Given the description of an element on the screen output the (x, y) to click on. 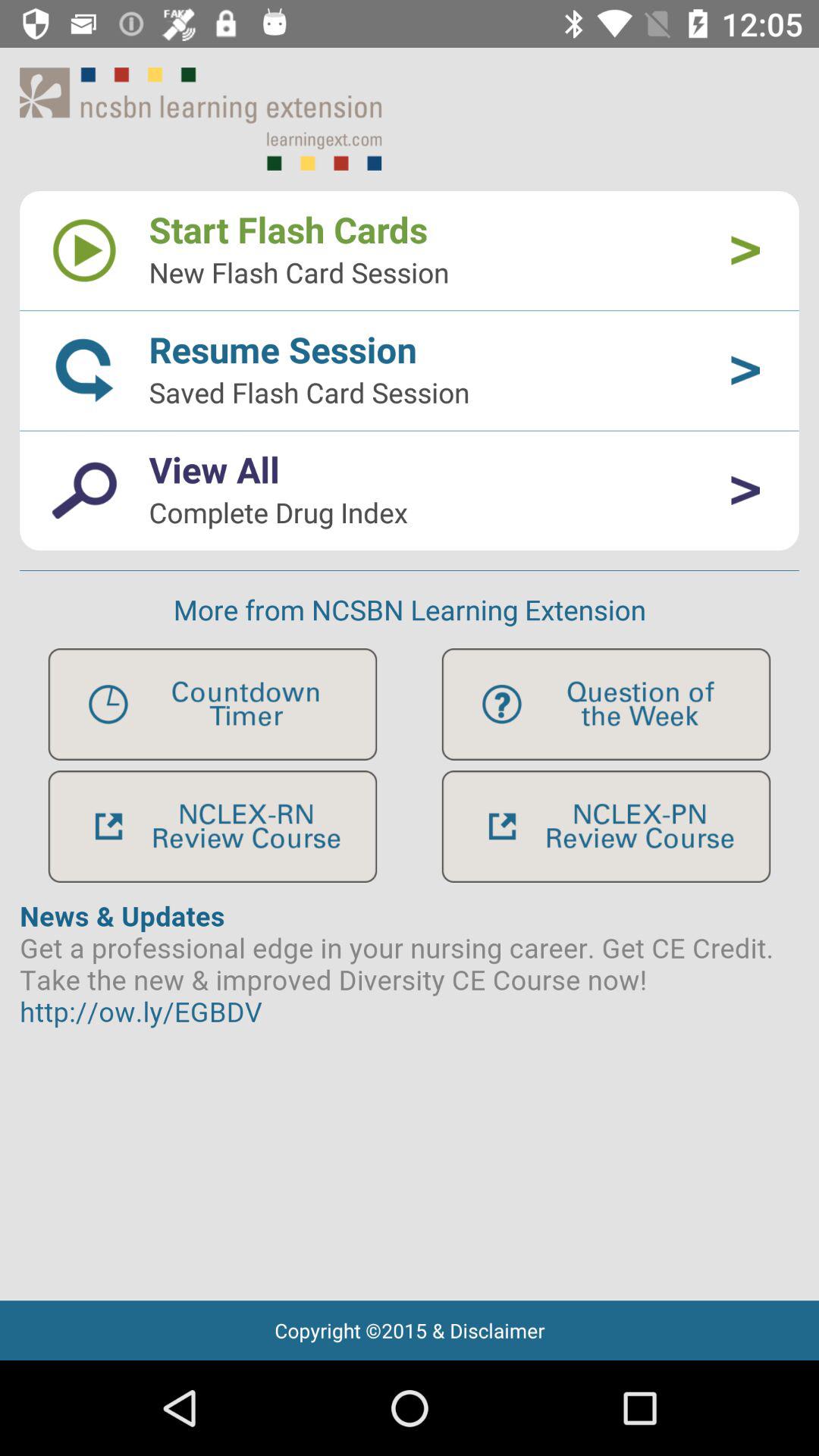
app function icon (606, 704)
